Given the description of an element on the screen output the (x, y) to click on. 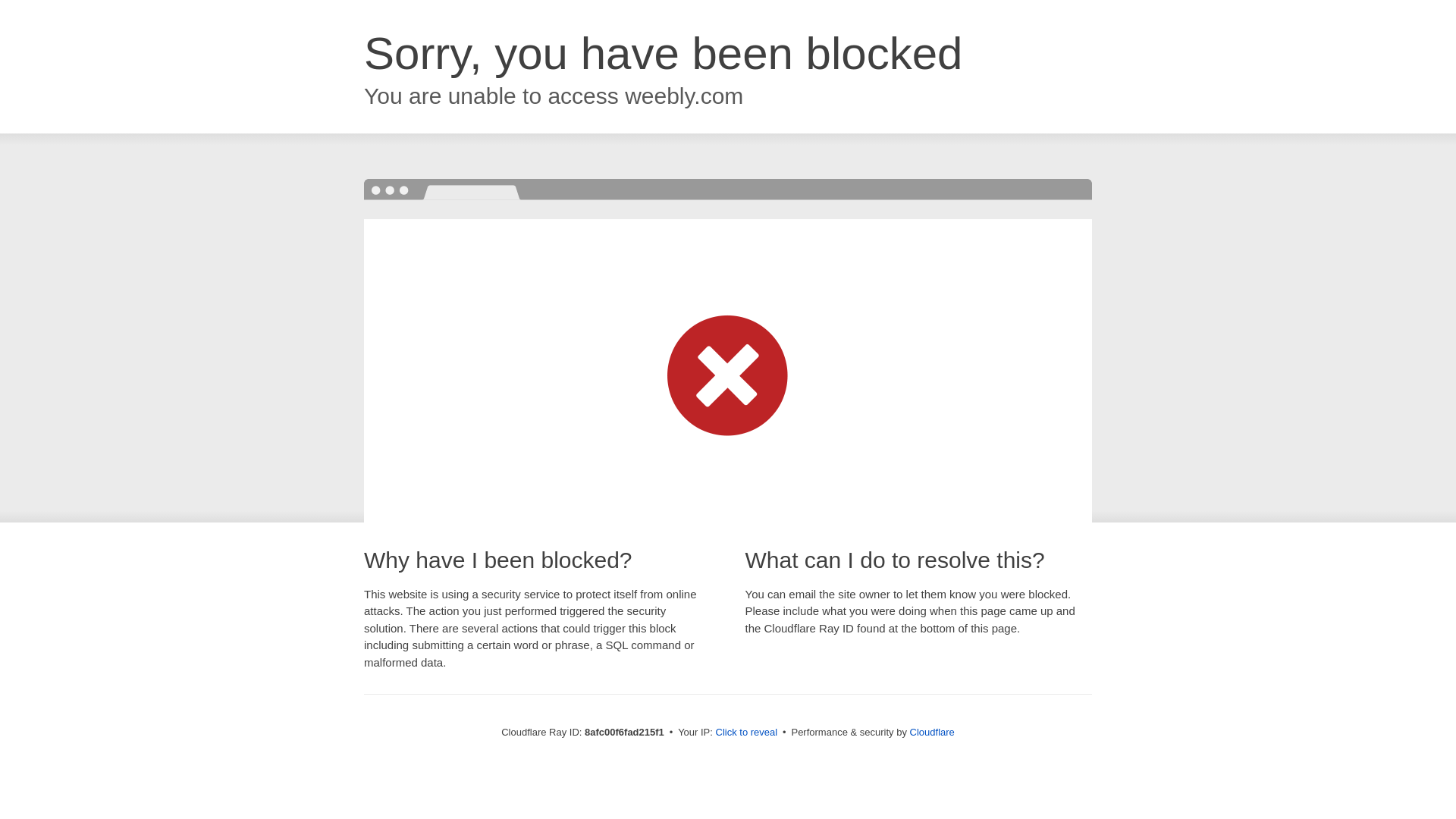
Click to reveal (746, 732)
Cloudflare (932, 731)
